Given the description of an element on the screen output the (x, y) to click on. 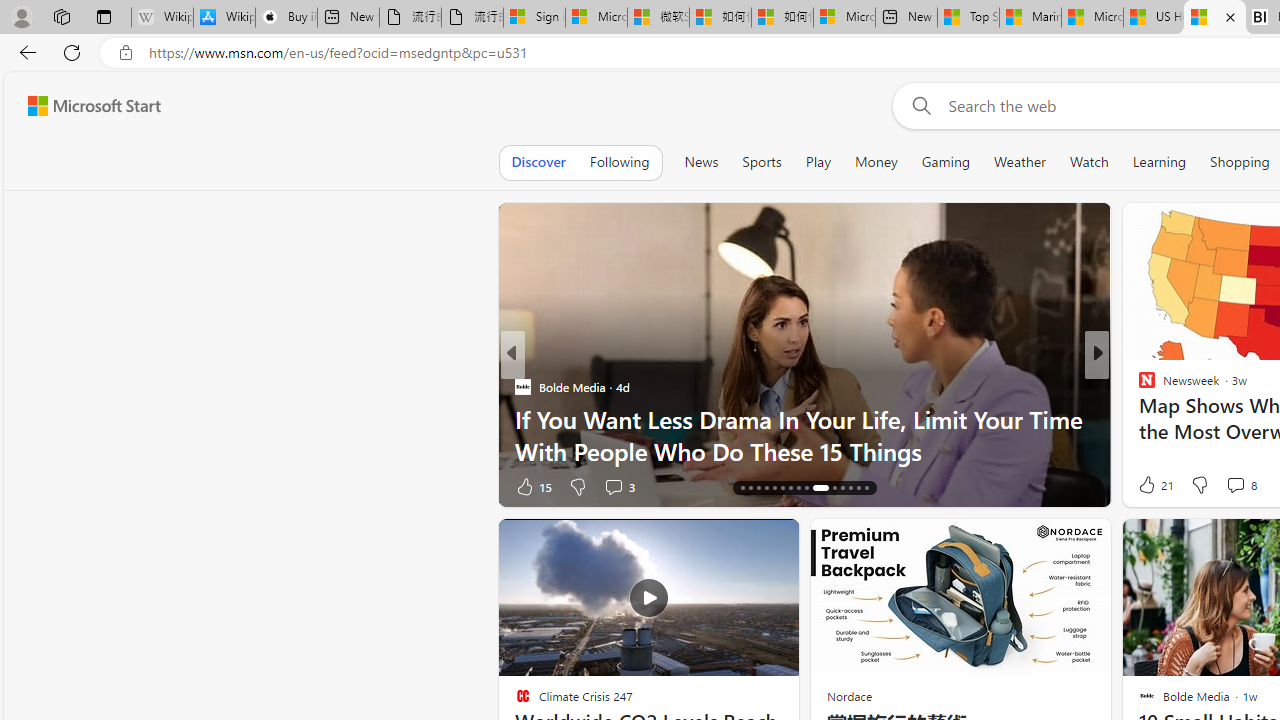
AutomationID: tab-29 (857, 487)
611 Like (1151, 486)
